Given the description of an element on the screen output the (x, y) to click on. 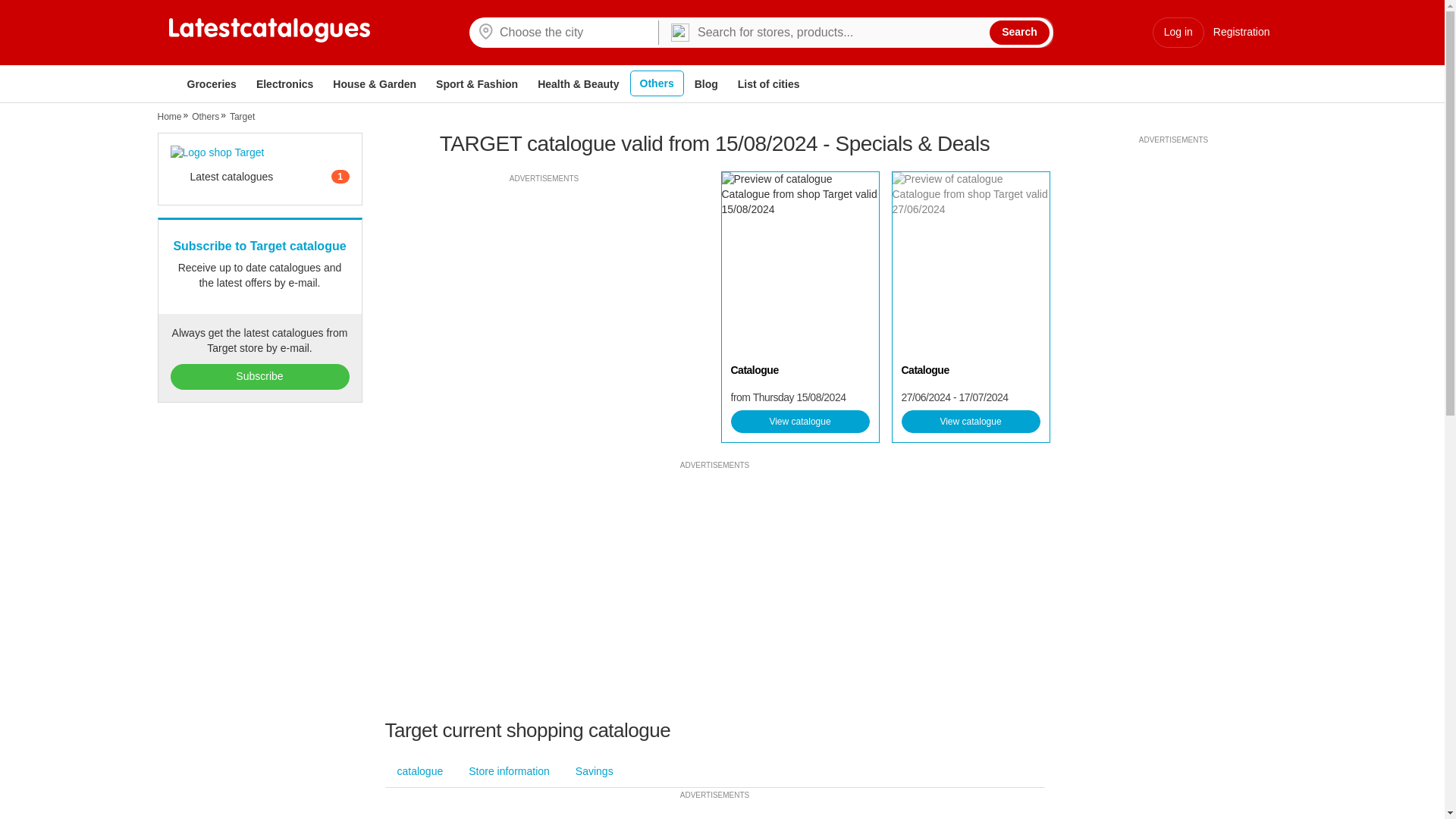
Latestcatalogues.com (268, 30)
Search (1019, 32)
Groceries (210, 84)
Electronics (284, 84)
Blog (705, 84)
